Given the description of an element on the screen output the (x, y) to click on. 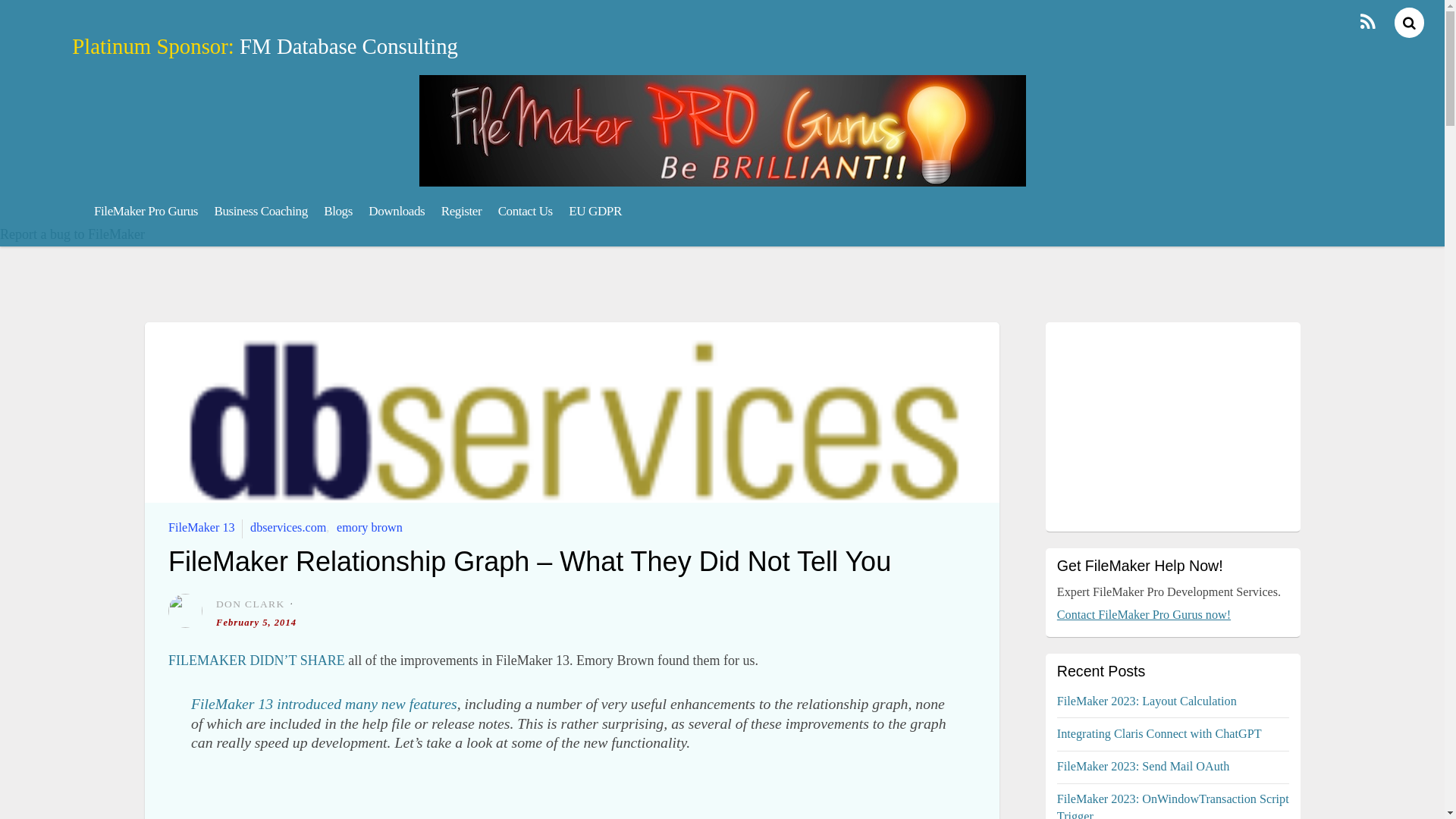
emory brown (369, 527)
FileMakerProGurus (722, 177)
FileMaker 2023: Send Mail OAuth (1143, 766)
Downloads (396, 211)
FM Database Consulting (349, 46)
FileMaker 13 (201, 527)
EU GDPR (595, 211)
FileMaker 2023: Layout Calculation (1146, 701)
FileMaker 13 introduced many new features (323, 703)
Blogs (337, 211)
